Given the description of an element on the screen output the (x, y) to click on. 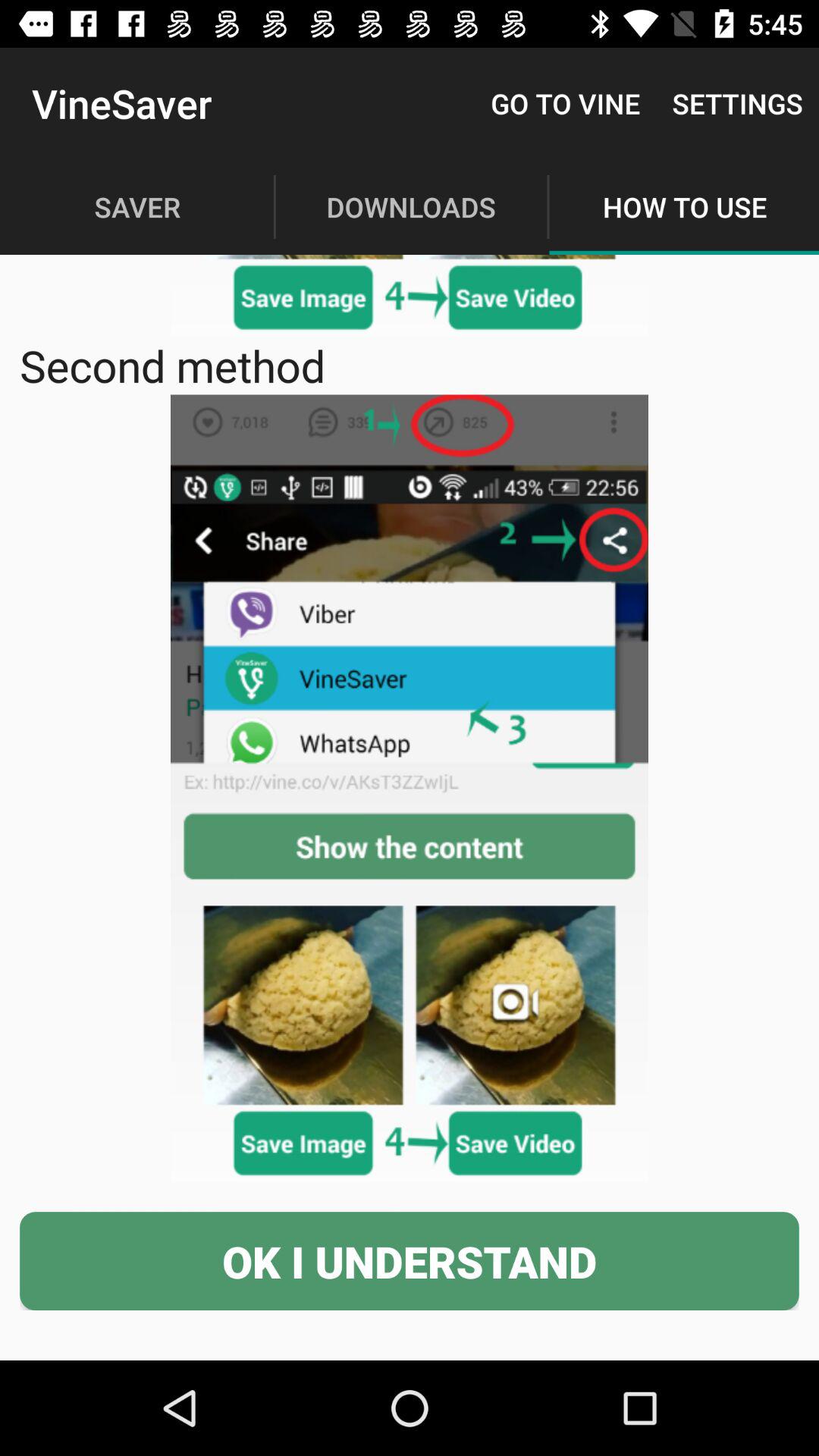
open the item next to vinesaver item (565, 103)
